Given the description of an element on the screen output the (x, y) to click on. 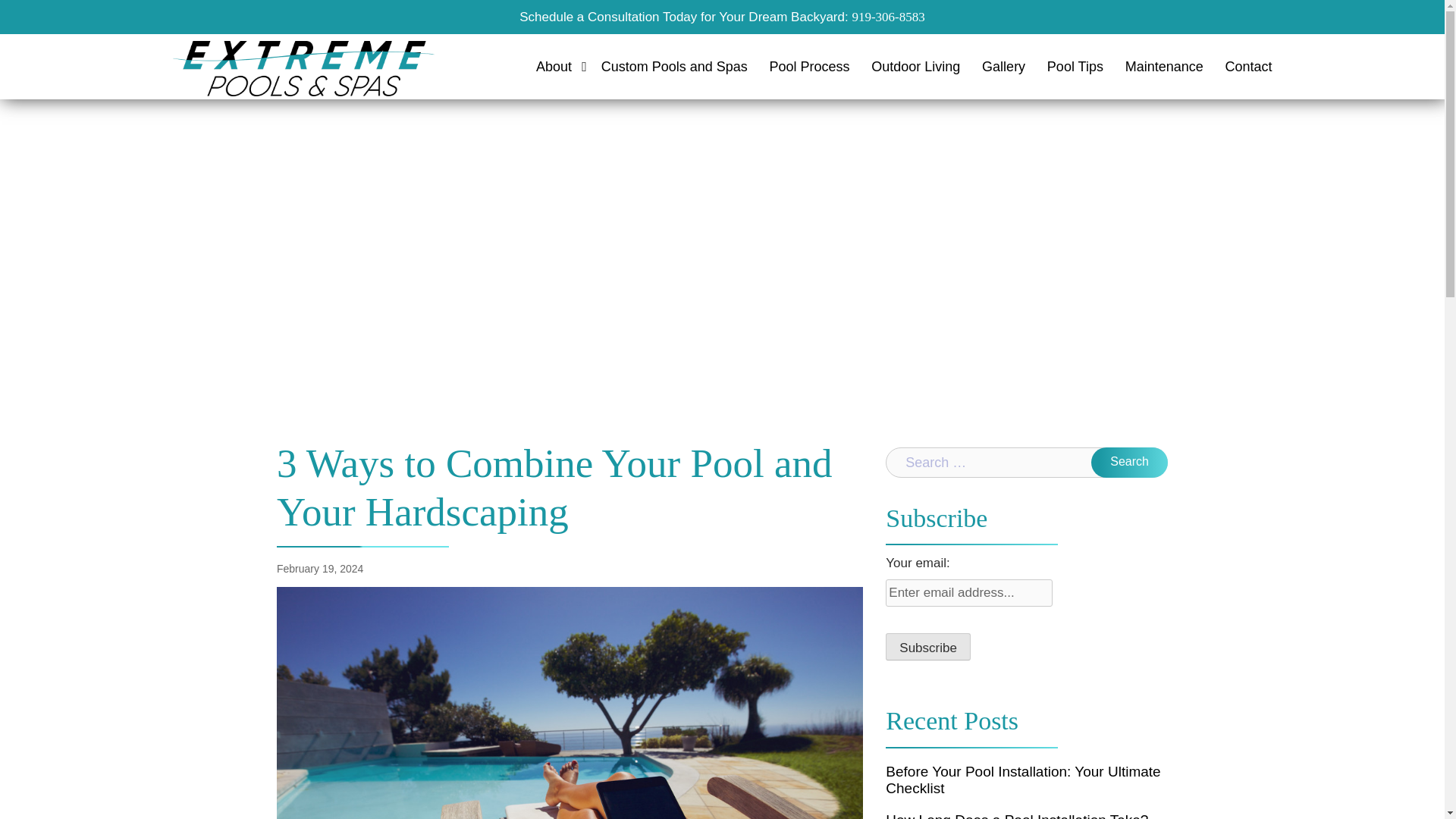
Pool Tips (1074, 66)
Search (1128, 462)
Outdoor Living (914, 66)
Maintenance (1164, 66)
Subscribe (928, 646)
Pool Process (808, 66)
919-306-8583 (887, 16)
Search (1128, 462)
Search (1128, 462)
Extreme Pools Logo without address- smaller (303, 68)
